Given the description of an element on the screen output the (x, y) to click on. 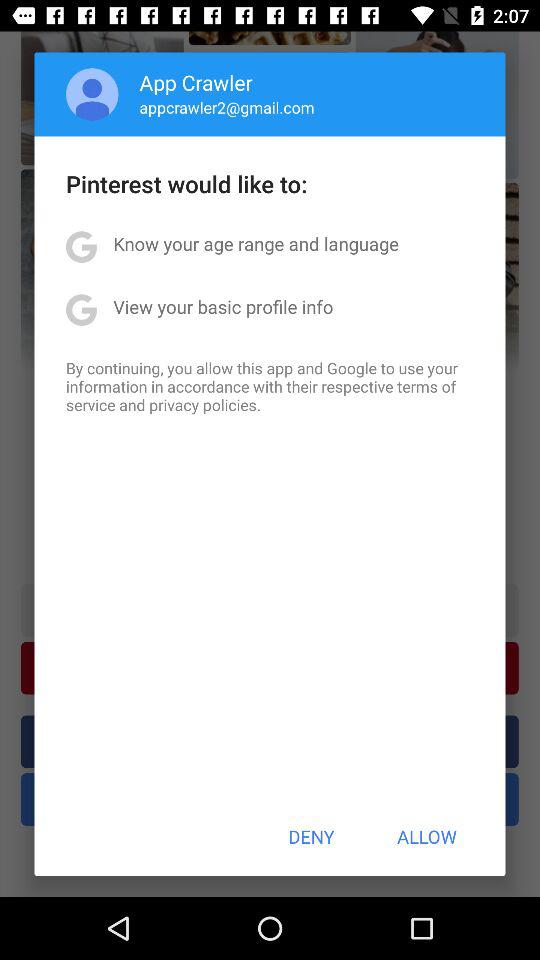
turn off the item above the appcrawler2@gmail.com item (195, 82)
